Given the description of an element on the screen output the (x, y) to click on. 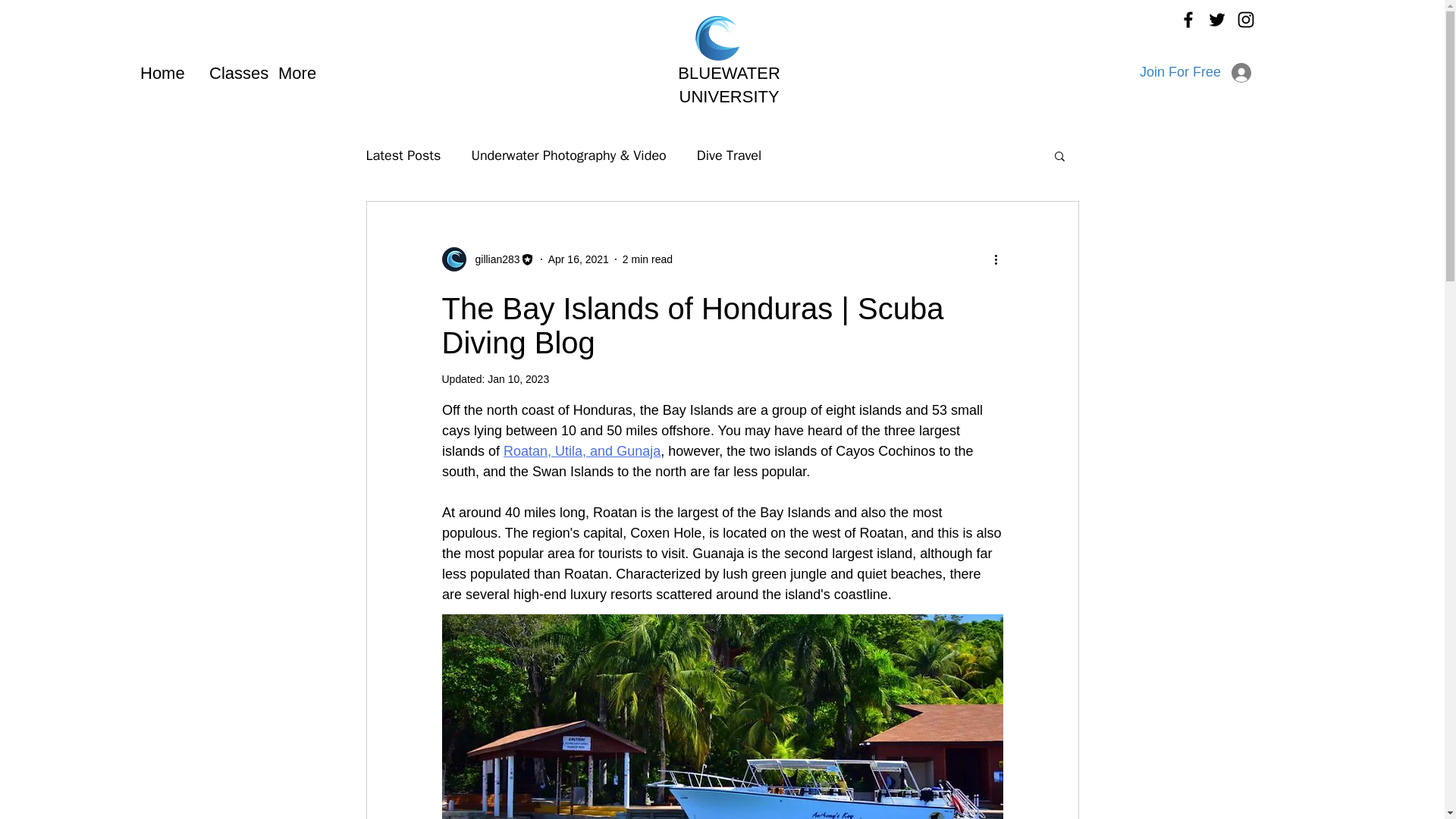
Dive Travel (729, 155)
Home (167, 73)
gillian283 (487, 259)
gillian283 (492, 259)
Join For Free (1195, 72)
BLUEWATER UNIVERSITY (728, 84)
2 min read (647, 259)
Roatan, Utila, and Gunaja (582, 450)
Apr 16, 2021 (578, 259)
Jan 10, 2023 (517, 378)
Classes (236, 73)
Latest Posts (403, 155)
